Given the description of an element on the screen output the (x, y) to click on. 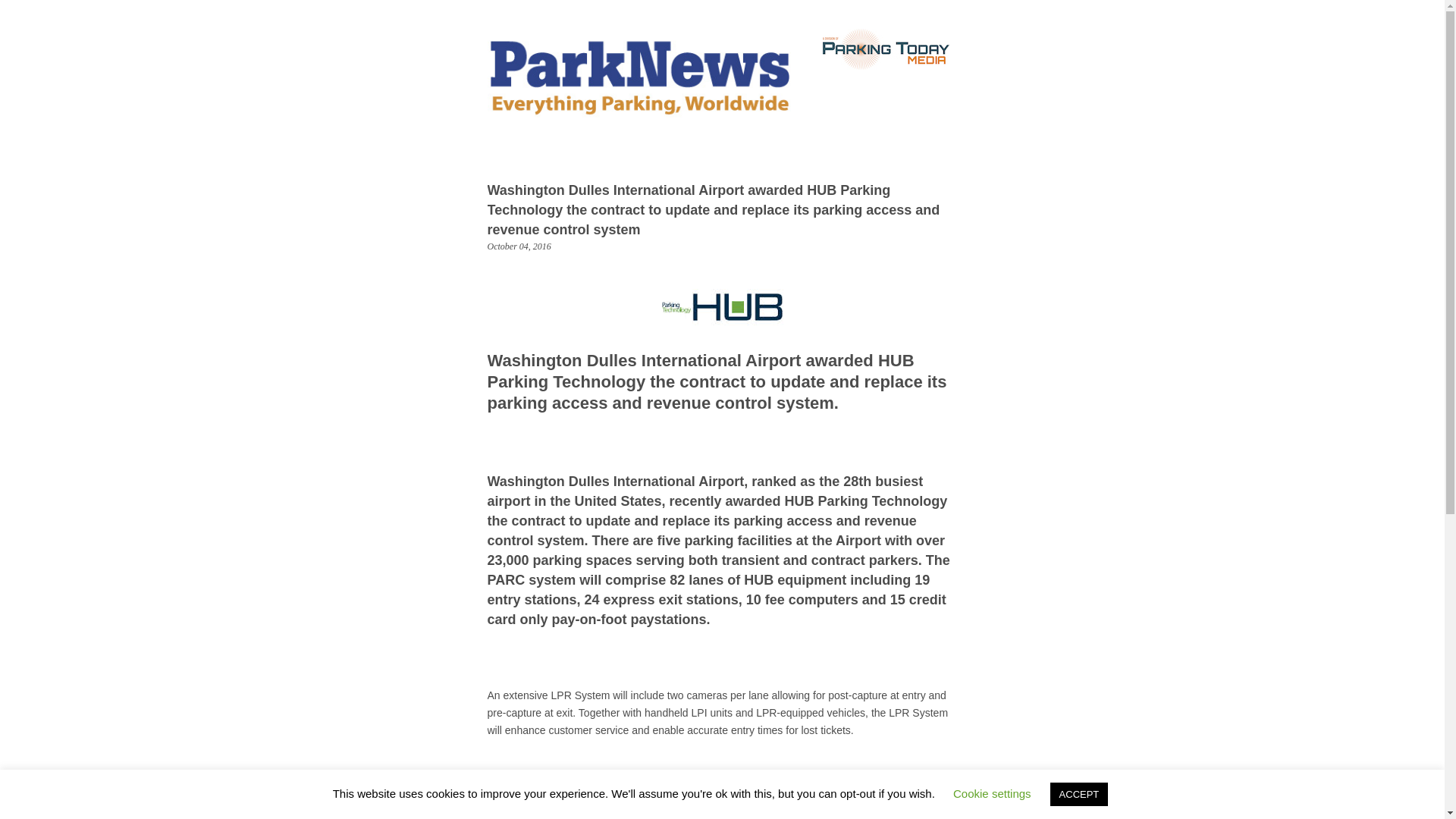
ACCEPT (1078, 793)
Cookie settings (991, 793)
